Given the description of an element on the screen output the (x, y) to click on. 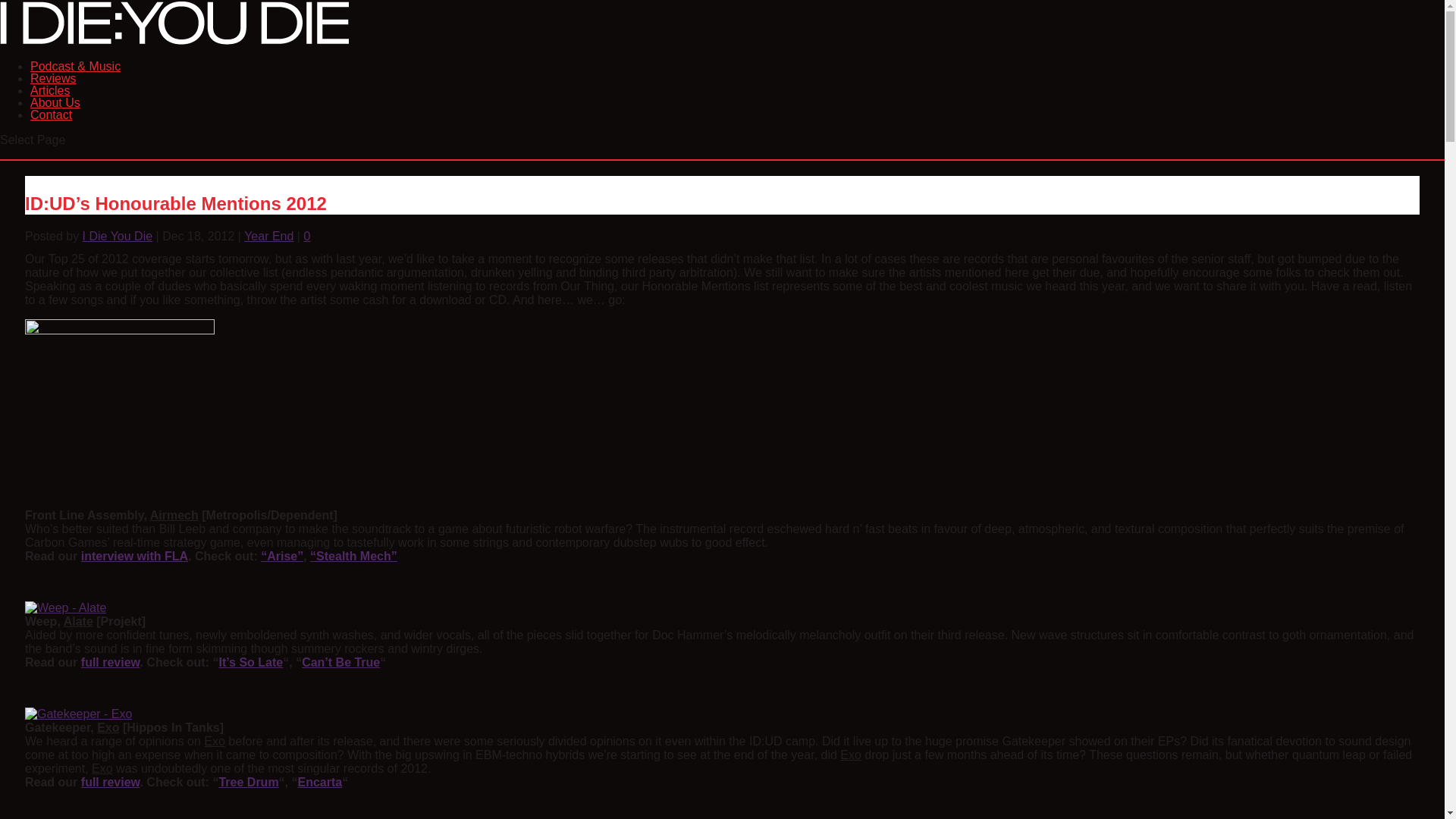
0 (306, 236)
Reviews (52, 94)
Posts by I Die You Die (117, 236)
Tree Drum (248, 781)
full review (110, 662)
I Die You Die (117, 236)
Articles (49, 106)
About Us (55, 118)
Contact (50, 130)
Year End (269, 236)
Airmech (119, 413)
Encarta (319, 781)
Weep - Alate (65, 608)
Gatekeeper - Exo (78, 714)
full review (110, 781)
